Given the description of an element on the screen output the (x, y) to click on. 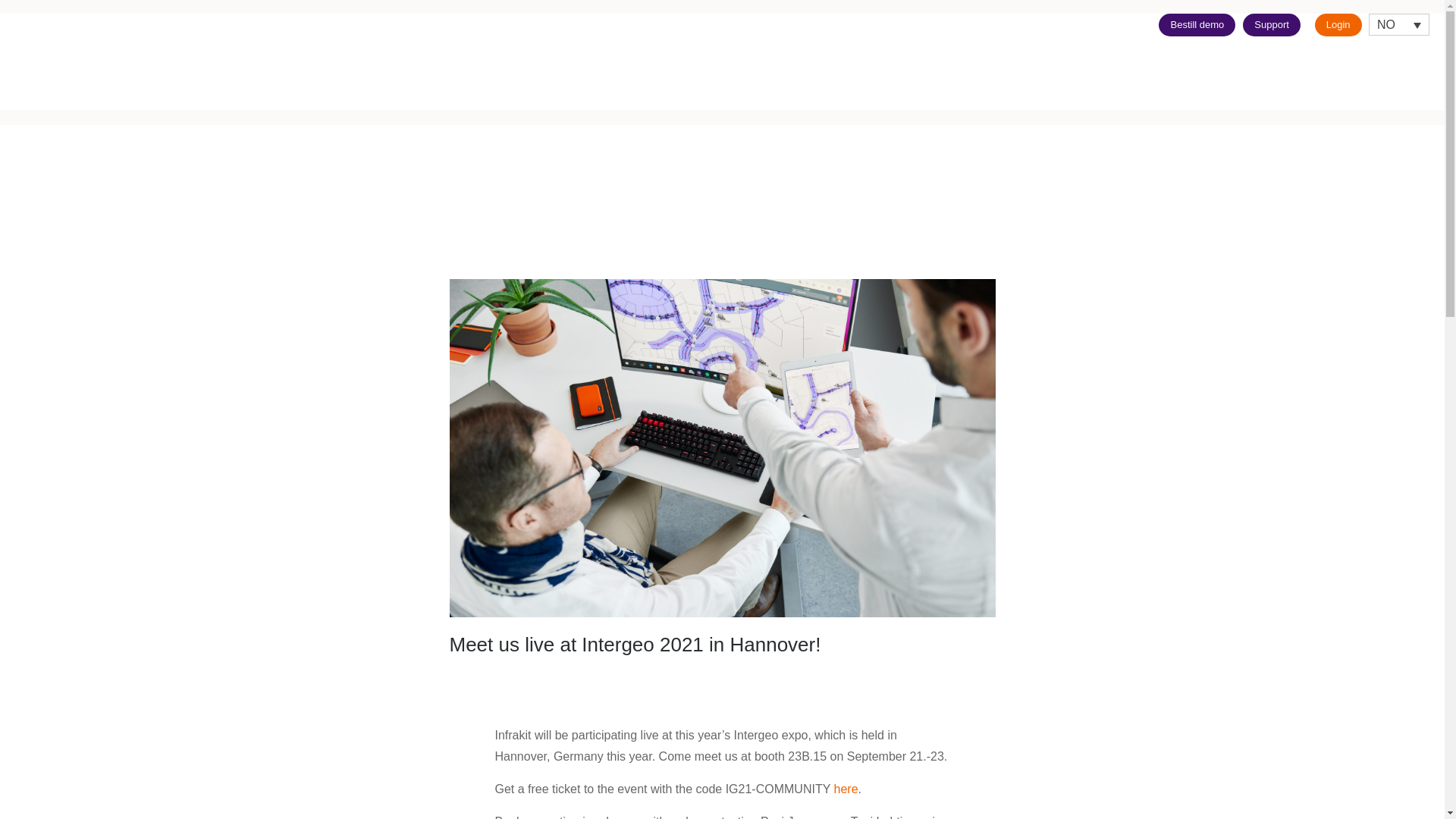
Login (1337, 24)
Support (1271, 24)
NO (1398, 24)
Bestill demo (1196, 24)
